Given the description of an element on the screen output the (x, y) to click on. 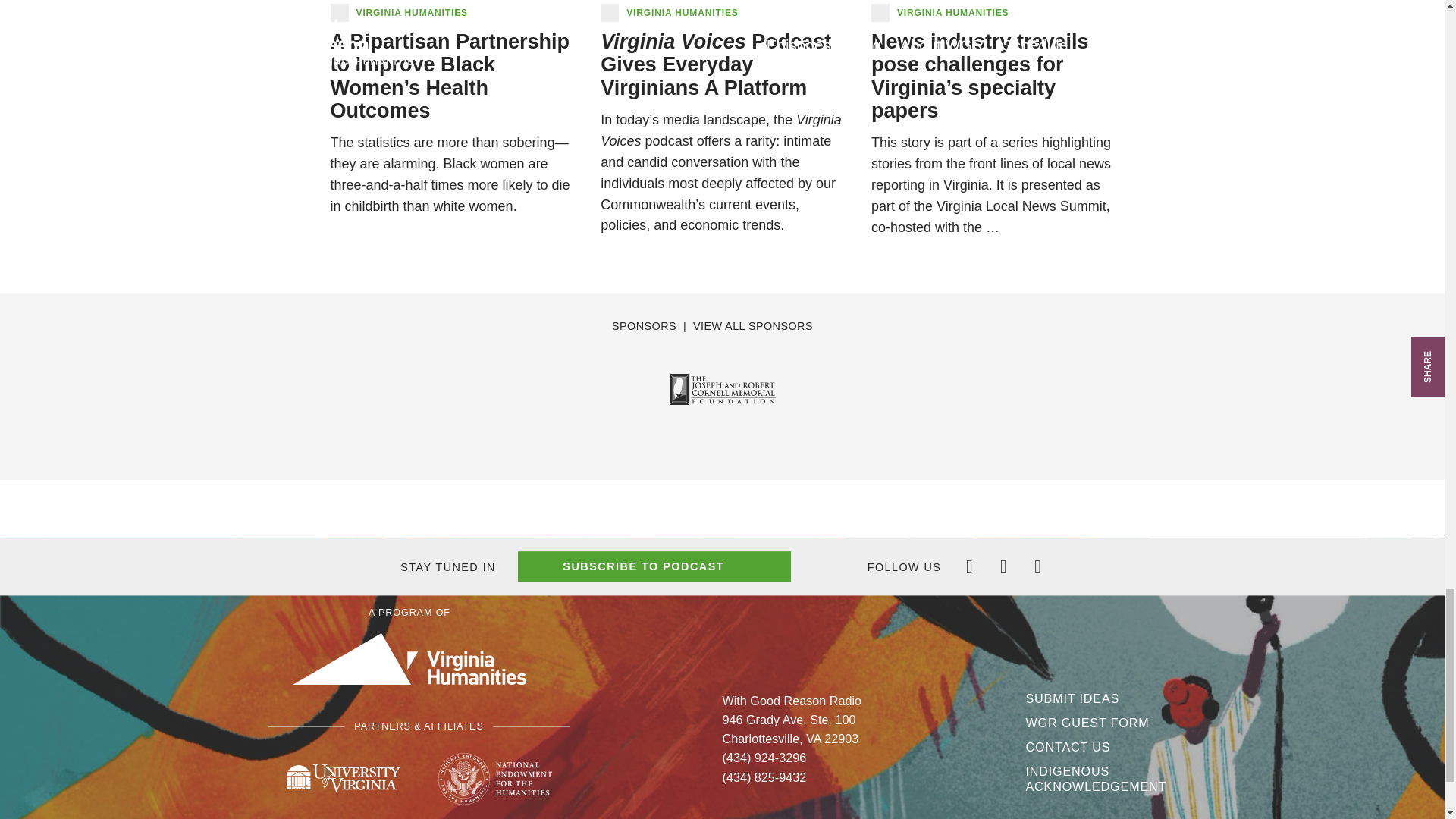
VIRGINIA HUMANITIES (411, 12)
VIRGINIA HUMANITIES (682, 12)
VIRGINIA HUMANITIES (952, 12)
